Given the description of an element on the screen output the (x, y) to click on. 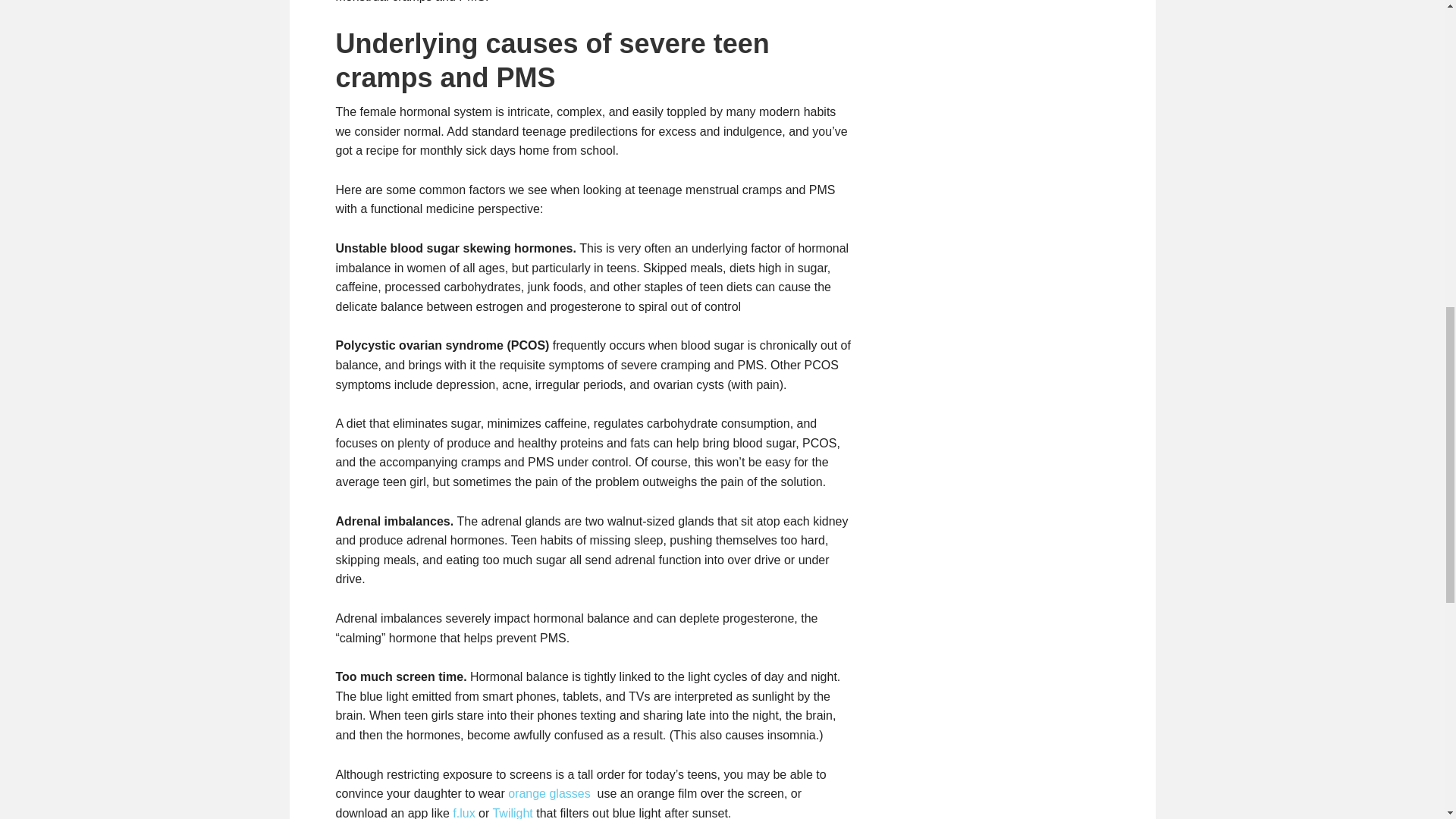
Twilight (512, 812)
orange glasses (549, 793)
f.lux (463, 812)
